Given the description of an element on the screen output the (x, y) to click on. 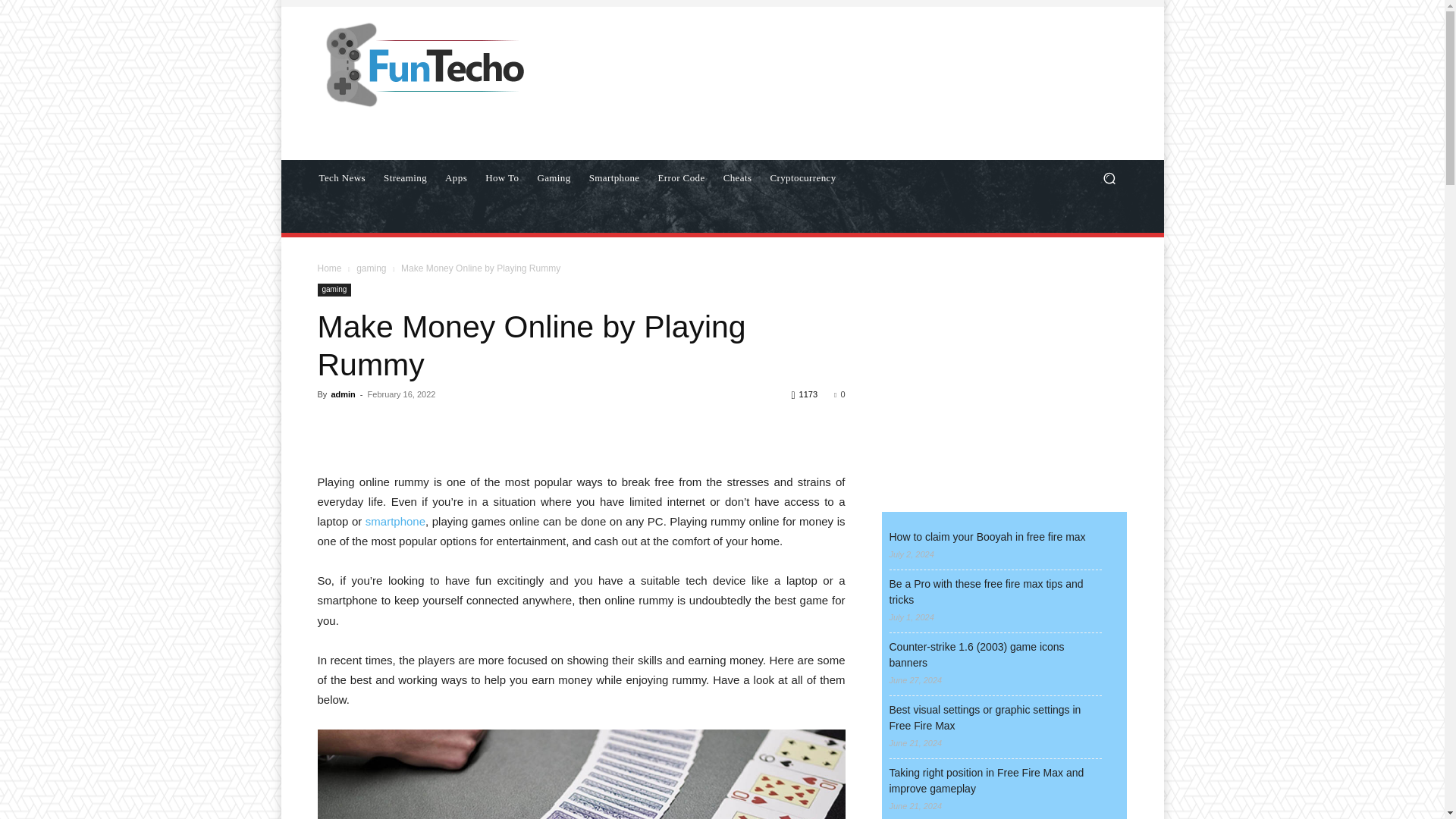
gaming (370, 267)
Tech News (341, 177)
Home (328, 267)
Cheats (737, 177)
View all posts in gaming (370, 267)
0 (839, 393)
Gaming (553, 177)
Apps (455, 177)
How To (501, 177)
Smartphone (614, 177)
